Given the description of an element on the screen output the (x, y) to click on. 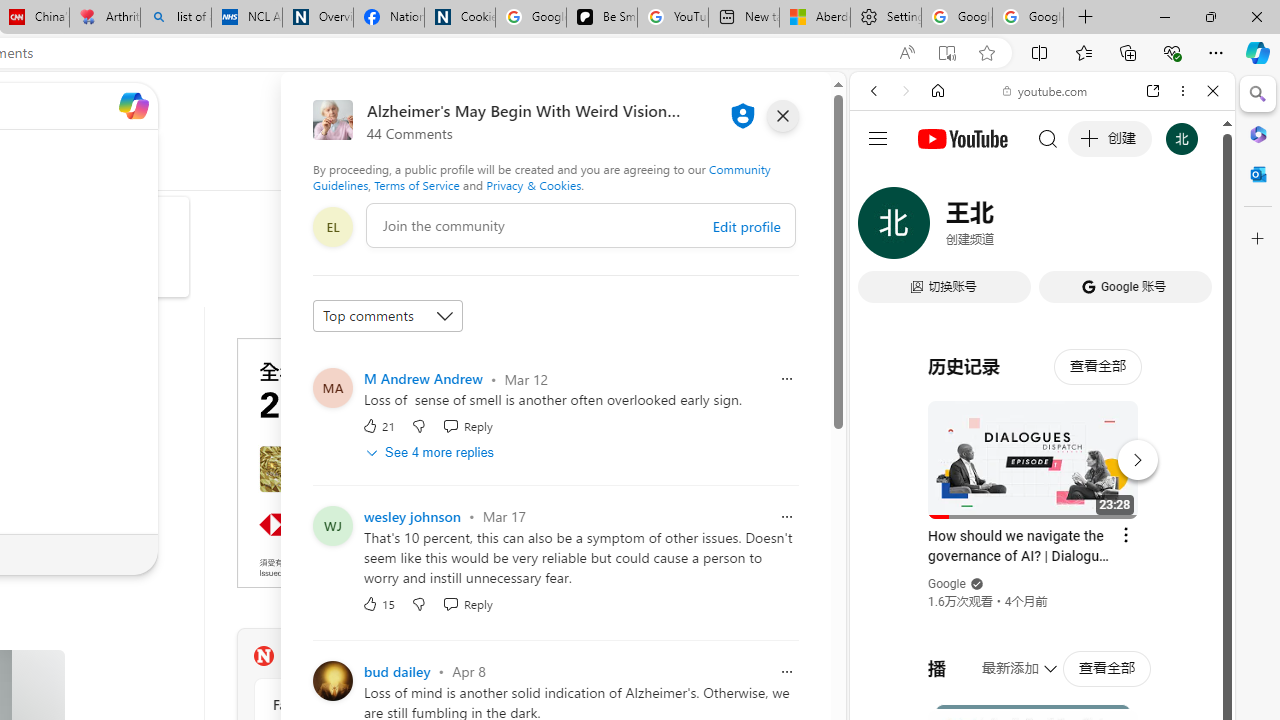
Google (947, 584)
Search the web (1051, 137)
#you (1042, 445)
This site scope (936, 180)
Community Guidelines (541, 176)
Cookies (460, 17)
